Given the description of an element on the screen output the (x, y) to click on. 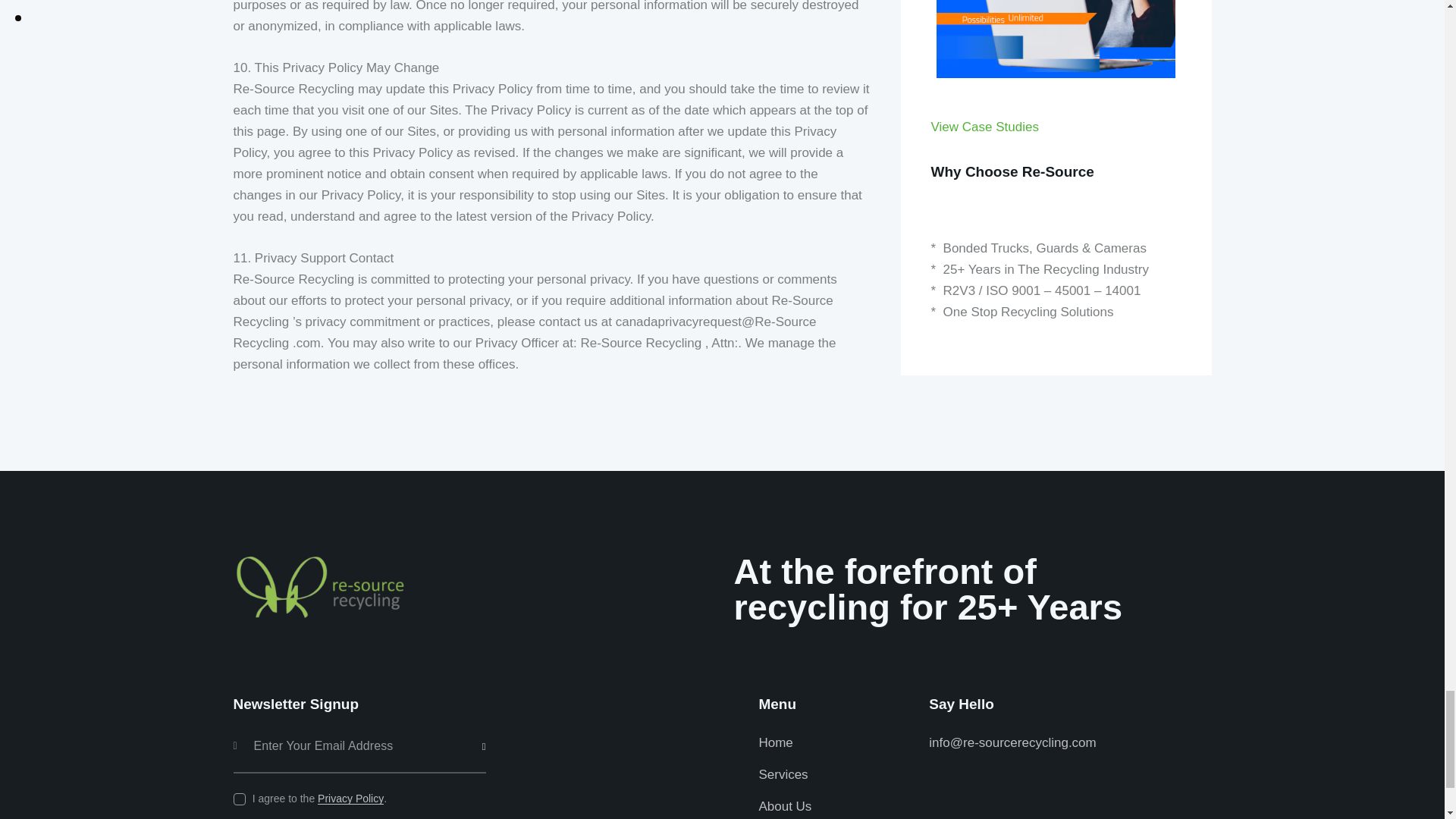
1 (489, 725)
